Given the description of an element on the screen output the (x, y) to click on. 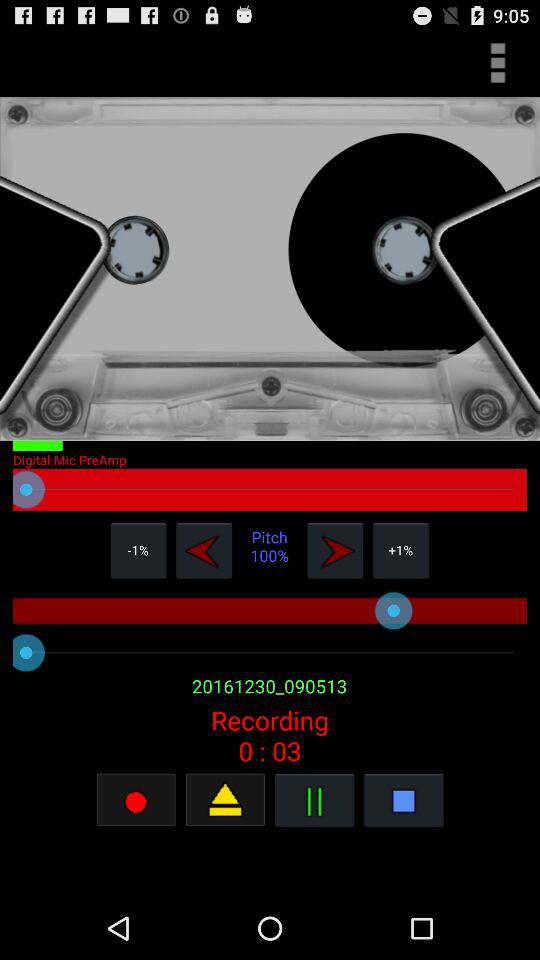
click the open option (225, 799)
